Given the description of an element on the screen output the (x, y) to click on. 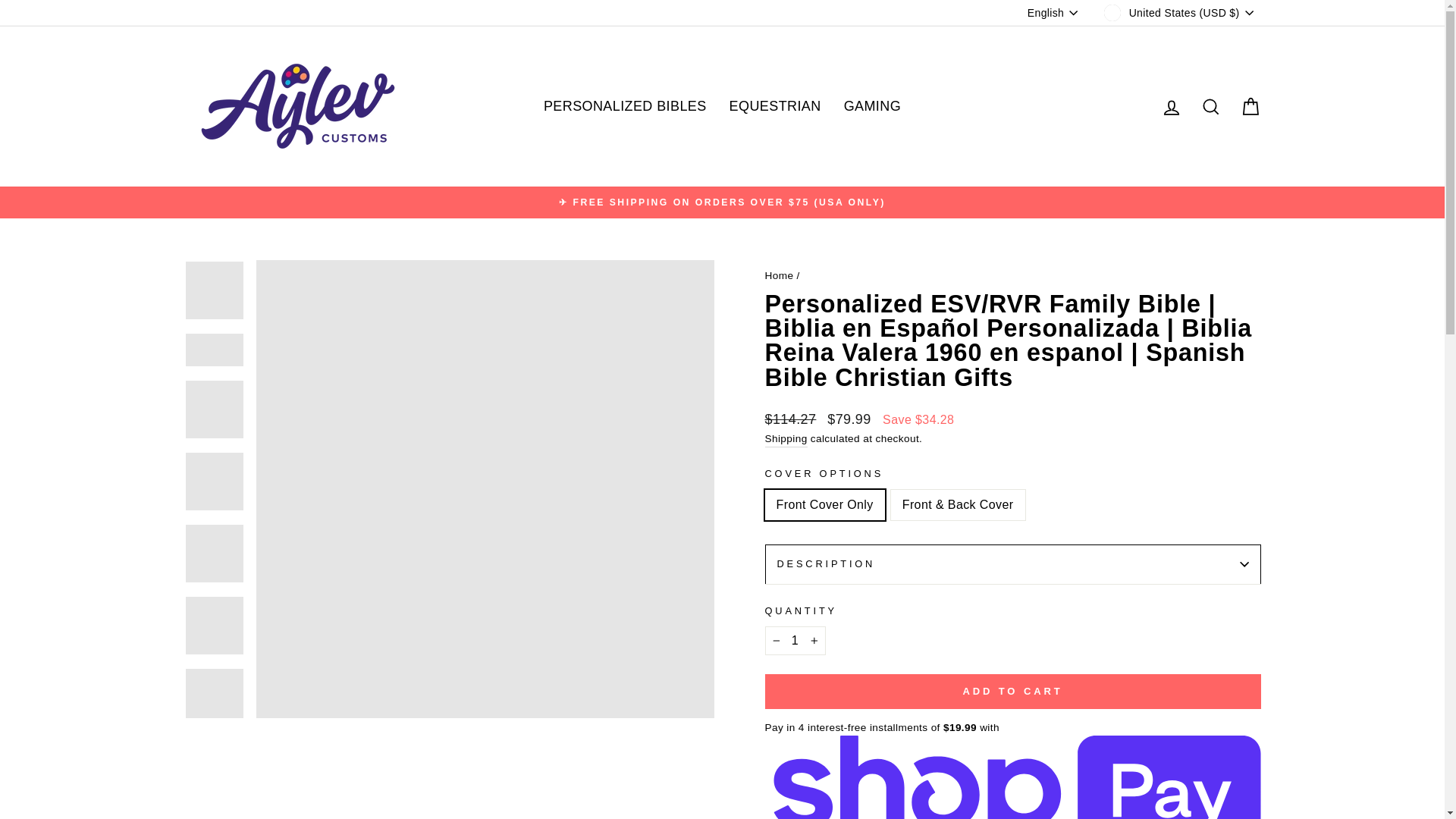
1 (794, 640)
Back to the frontpage (778, 275)
English (1053, 12)
